Given the description of an element on the screen output the (x, y) to click on. 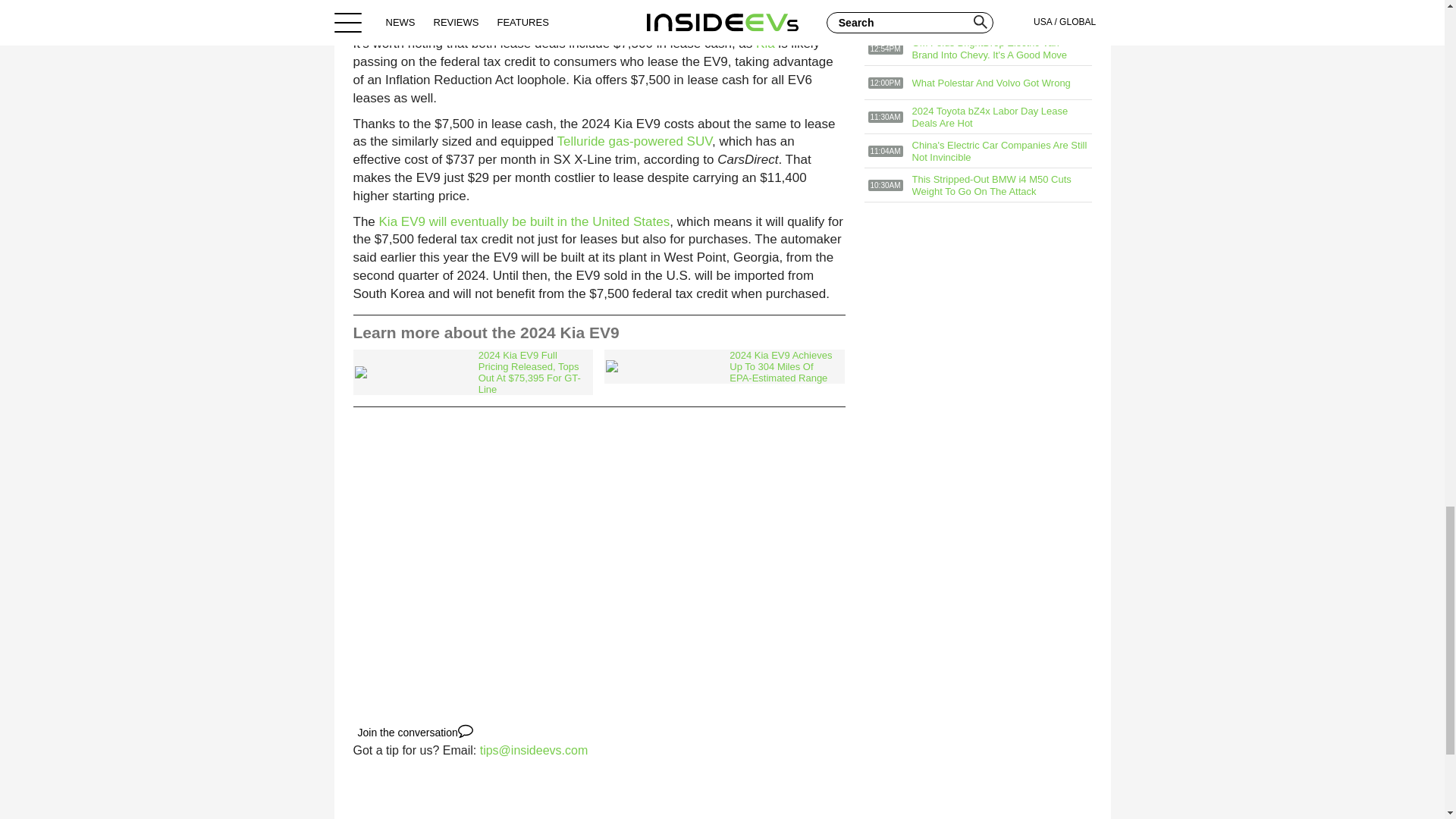
2024 Kia EV9 Achieves Up To 304 Miles Of EPA-Estimated Range (724, 366)
Kia EV9 will eventually be built in the United States (523, 221)
Kia (764, 43)
Telluride gas-powered SUV (634, 141)
